Given the description of an element on the screen output the (x, y) to click on. 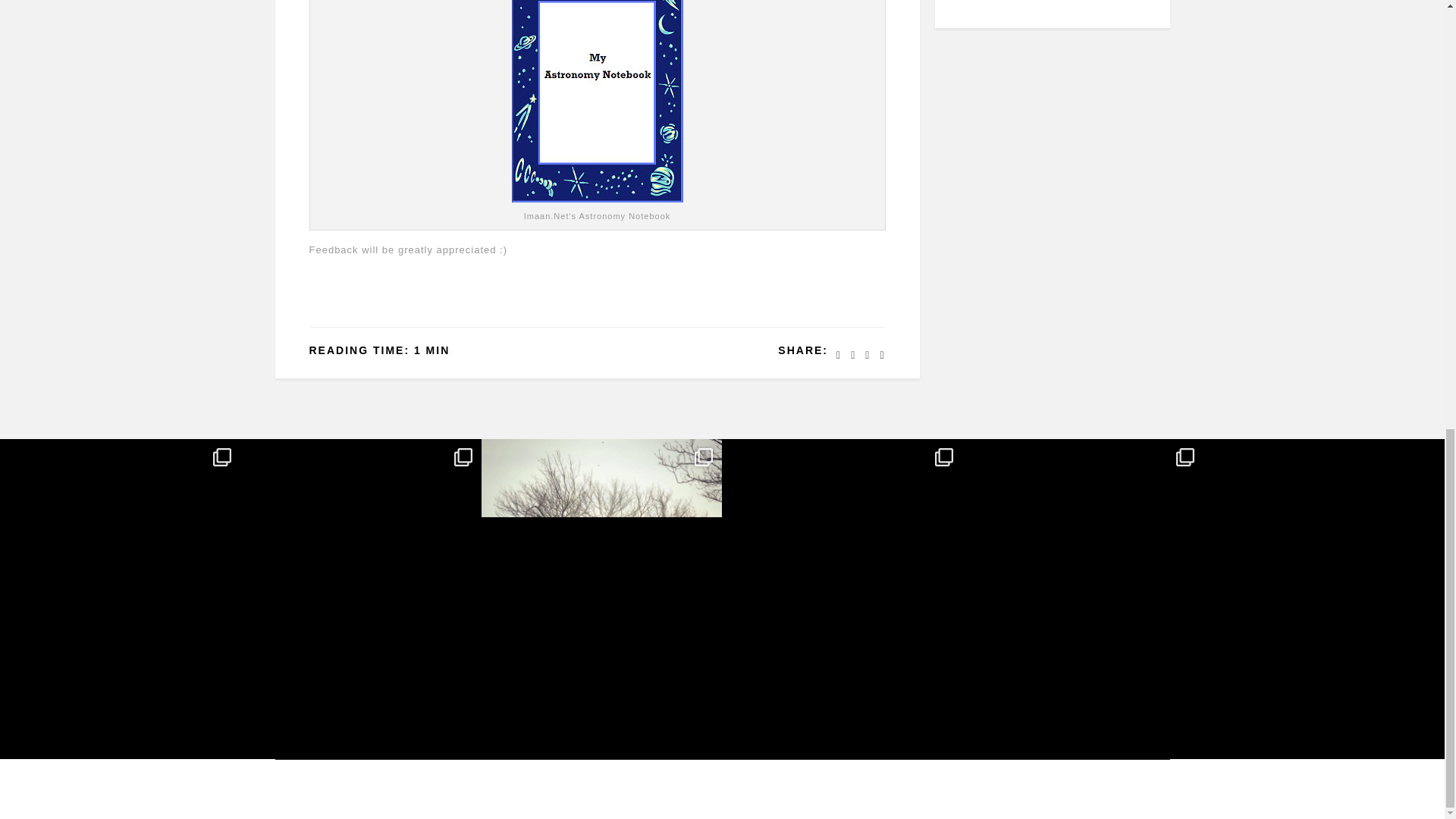
A couple of you asked me to make a post of my stor (842, 558)
Yesterday, I had a sobering chat with my friend wh (120, 558)
Journalists say this time it is different. Rushdi (360, 558)
